Given the description of an element on the screen output the (x, y) to click on. 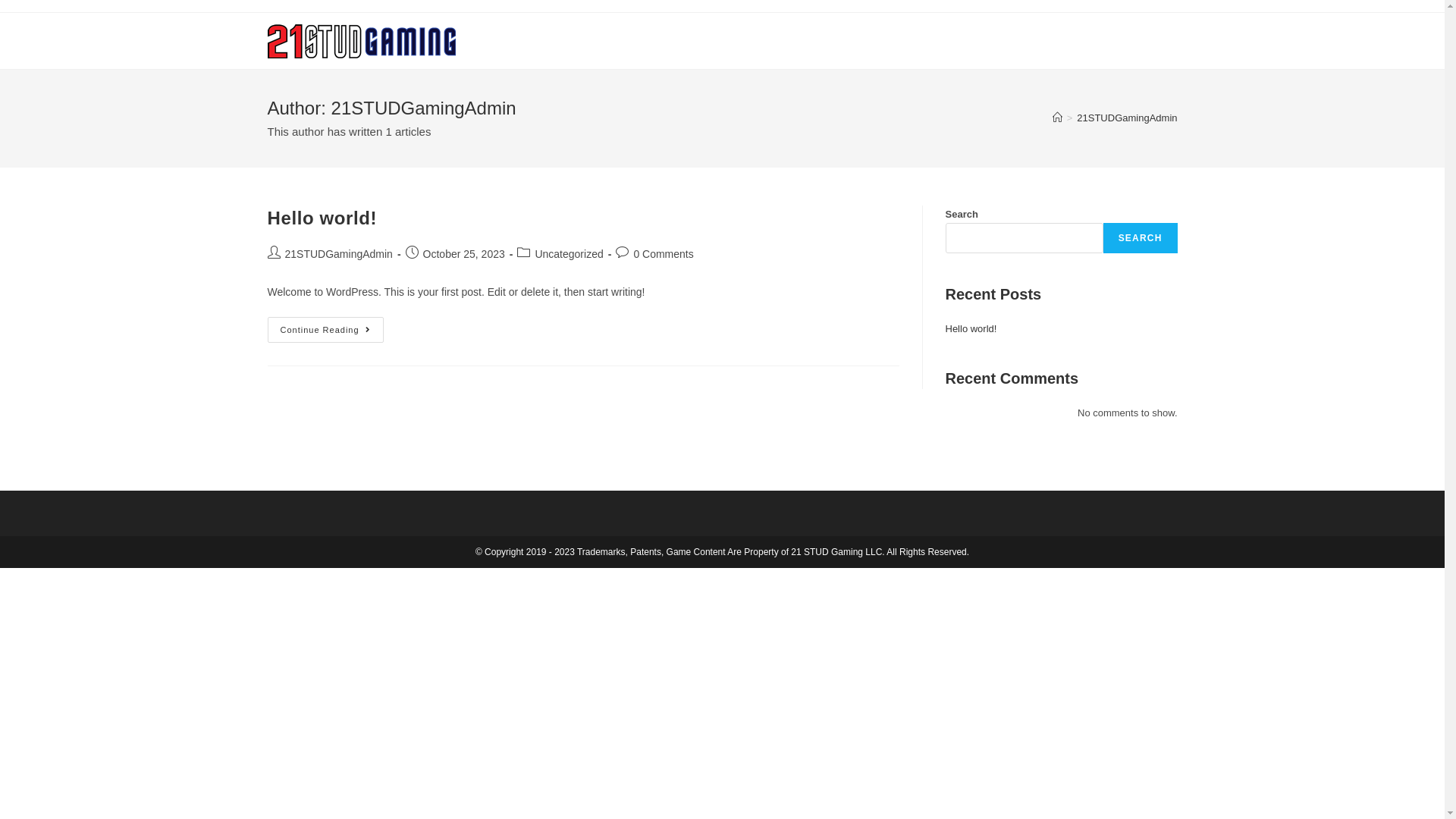
0 Comments Element type: text (663, 253)
Hello world! Element type: text (321, 217)
Continue Reading
Hello World! Element type: text (324, 329)
SEARCH Element type: text (1140, 237)
Uncategorized Element type: text (568, 253)
21STUDGamingAdmin Element type: text (338, 253)
Hello world! Element type: text (970, 328)
21STUDGamingAdmin Element type: text (1126, 117)
